Given the description of an element on the screen output the (x, y) to click on. 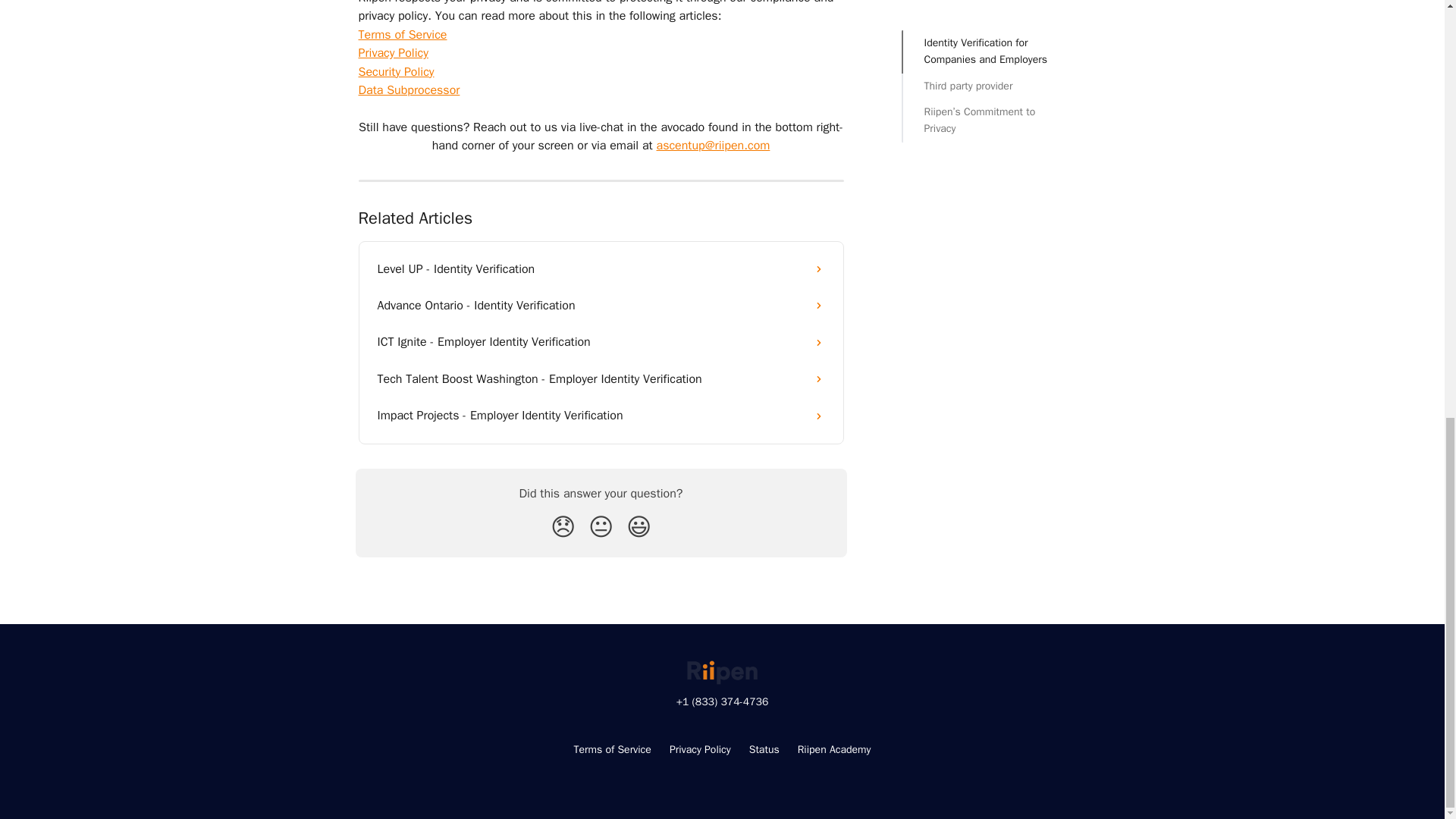
ICT Ignite - Employer Identity Verification (601, 341)
Privacy Policy (393, 52)
Privacy Policy (699, 748)
Terms of Service (611, 748)
Status (763, 748)
Data Subprocessor (409, 89)
Impact Projects - Employer Identity Verification (601, 415)
Terms of Service (402, 34)
Riipen Academy (833, 748)
Security Policy (395, 70)
Level UP - Identity Verification (601, 268)
Advance Ontario - Identity Verification (601, 305)
